Given the description of an element on the screen output the (x, y) to click on. 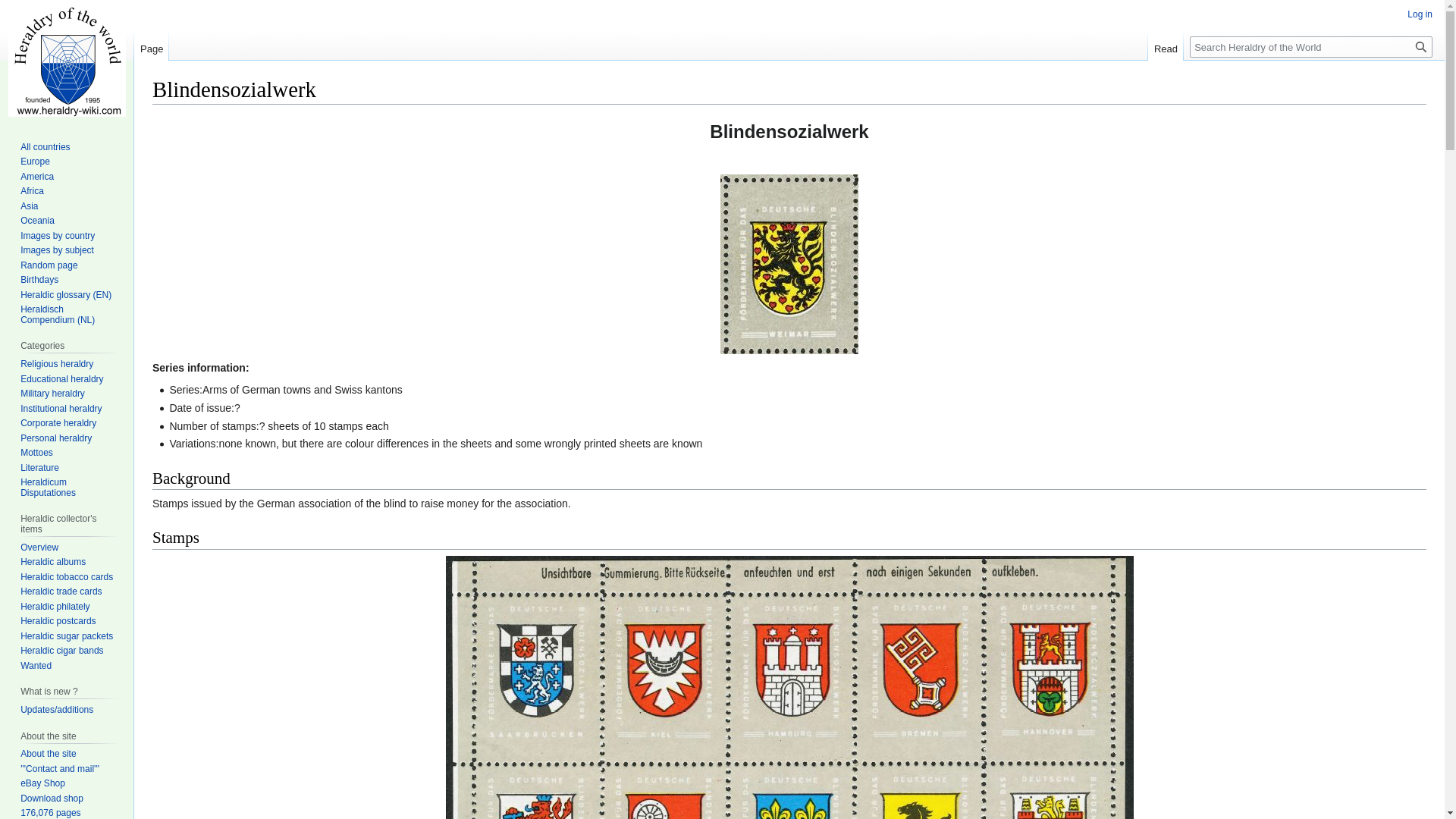
Asia (28, 205)
Africa (31, 190)
Birthdays (39, 279)
Images by subject (57, 249)
Search (1420, 46)
Images by country (57, 235)
Europe (34, 161)
Search (1420, 46)
America (36, 176)
